Given the description of an element on the screen output the (x, y) to click on. 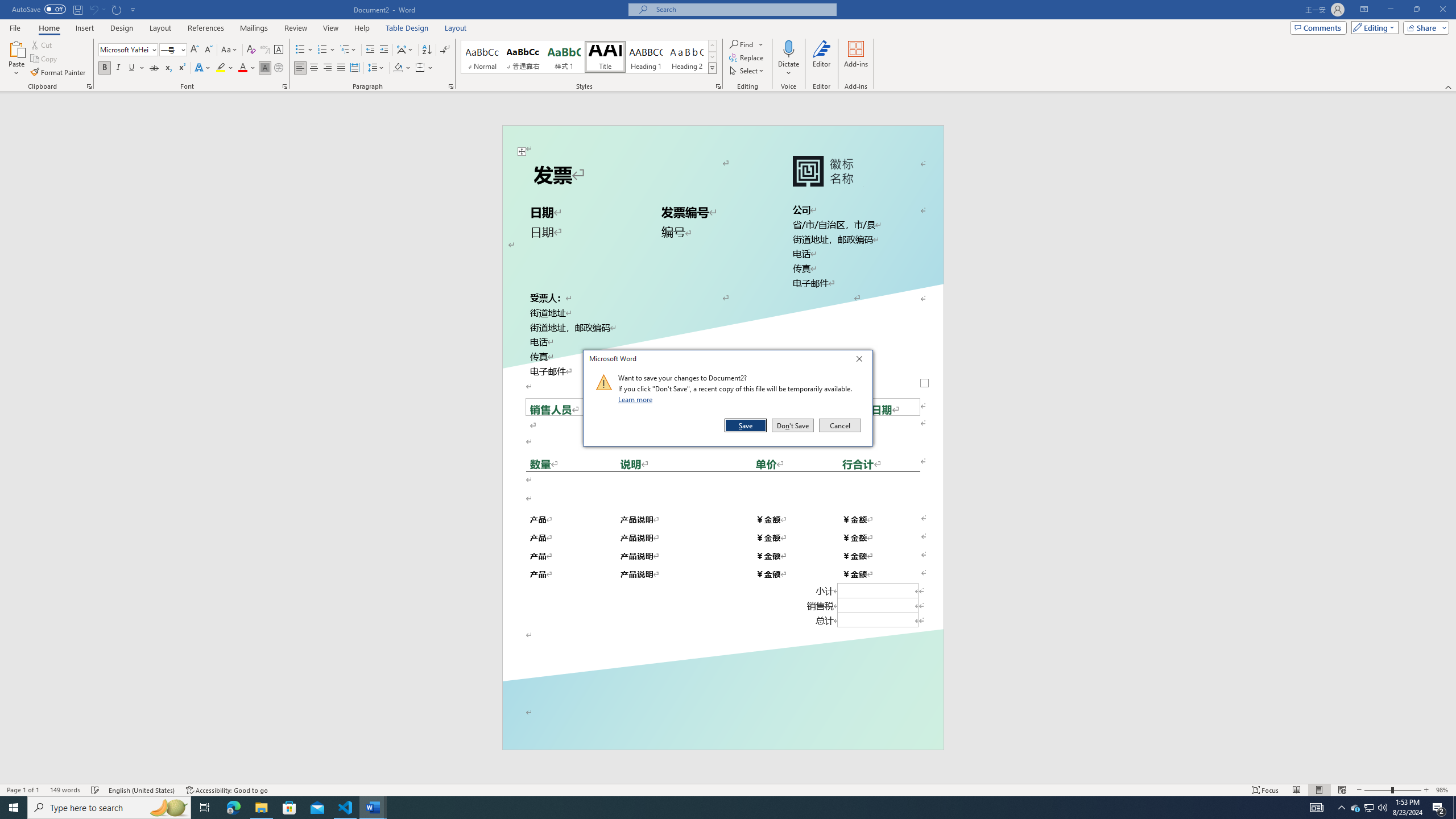
Quick Access Toolbar (74, 9)
Visual Studio Code - 1 running window (345, 807)
AutomationID: QuickStylesGallery (588, 56)
Shading RGB(0, 0, 0) (397, 67)
Start (13, 807)
Find (742, 44)
Strikethrough (154, 67)
Select (747, 69)
Save (746, 425)
Close (862, 360)
Row up (711, 45)
Italic (118, 67)
Language English (United States) (141, 790)
